Given the description of an element on the screen output the (x, y) to click on. 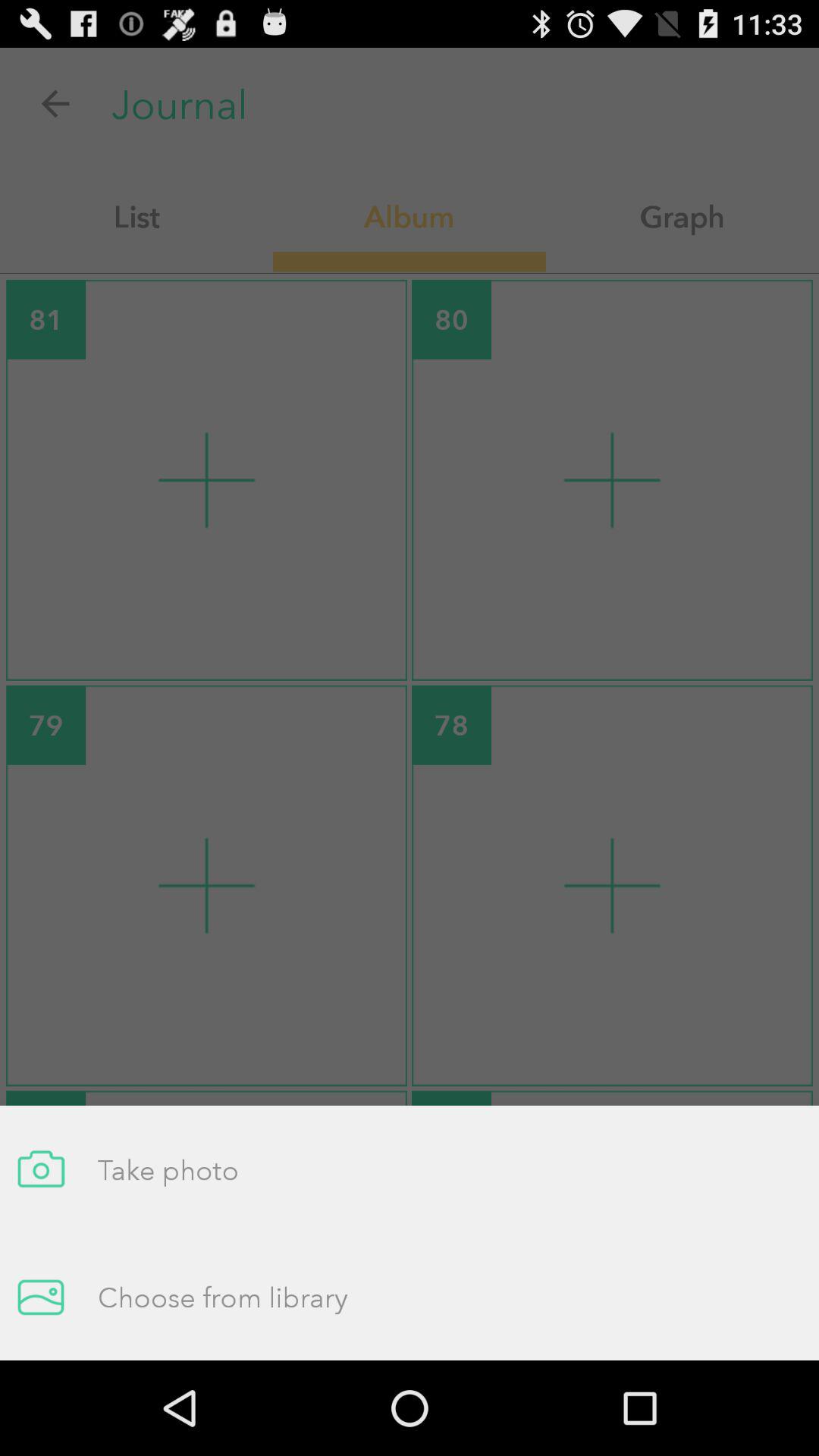
turn on the item at the center (409, 703)
